Given the description of an element on the screen output the (x, y) to click on. 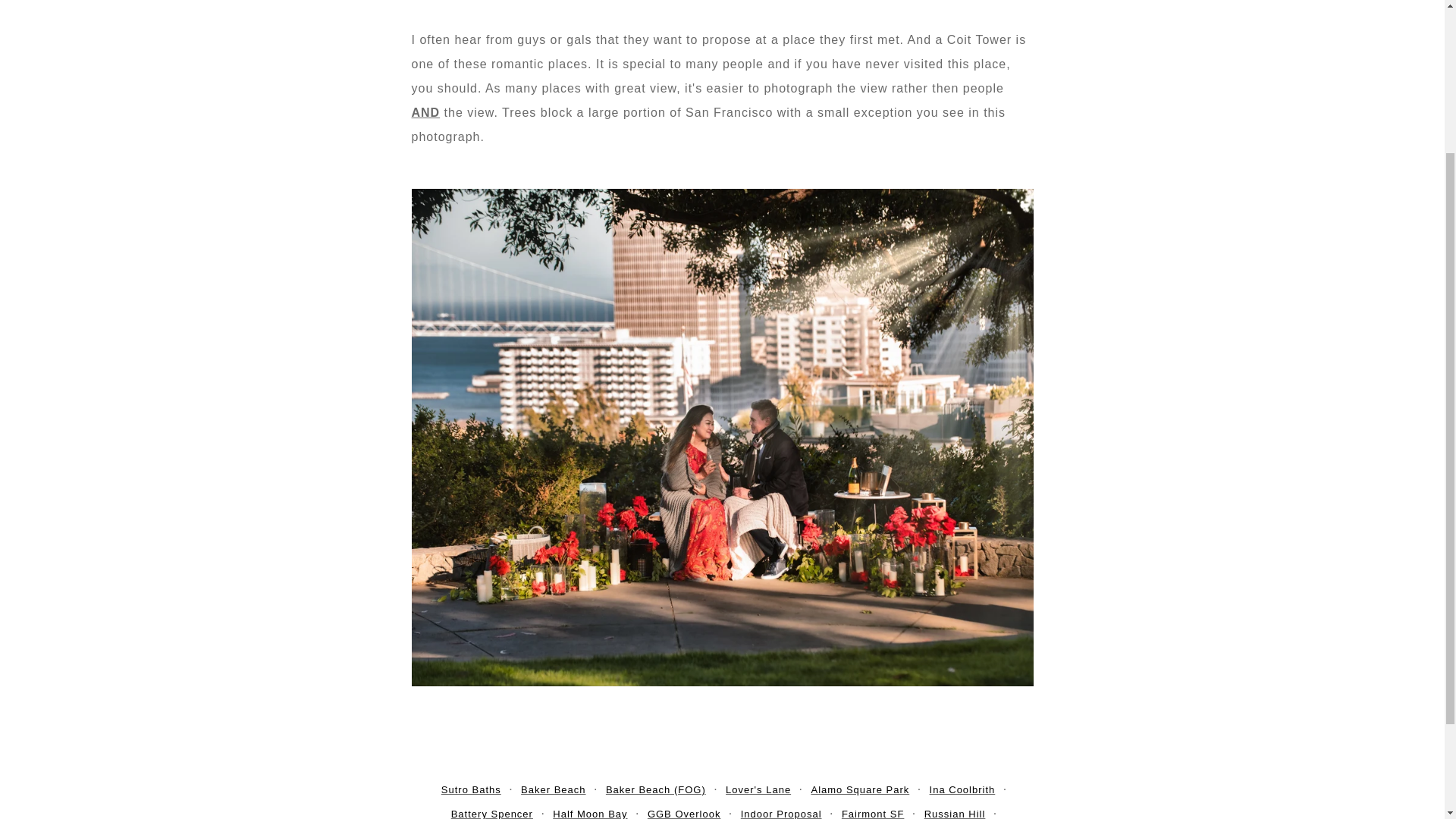
Baker Beach on a foggy day (655, 788)
Lover's Lane (757, 788)
Ina Coolbrith Proposal (962, 788)
Alamo Square Park Proposal (859, 788)
Baker Beach Proposal Photography (553, 788)
